Given the description of an element on the screen output the (x, y) to click on. 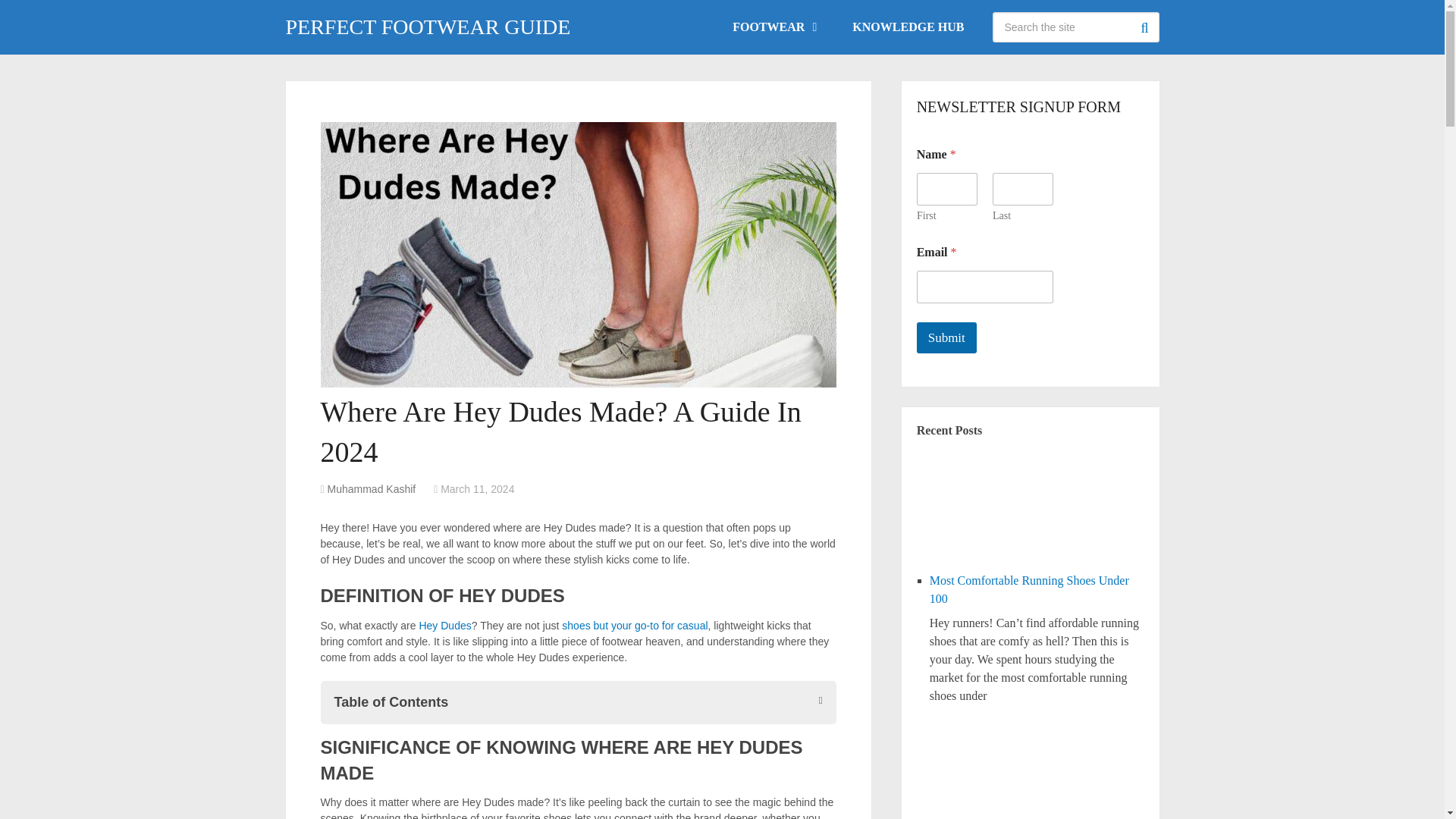
Posts by Muhammad Kashif (371, 489)
PERFECT FOOTWEAR GUIDE (427, 26)
FOOTWEAR (772, 27)
shoes but your go-to for casual (634, 625)
Table of Contents (577, 701)
KNOWLEDGE HUB (907, 27)
Hey Dudes (444, 625)
Muhammad Kashif (371, 489)
Search (1143, 27)
